Given the description of an element on the screen output the (x, y) to click on. 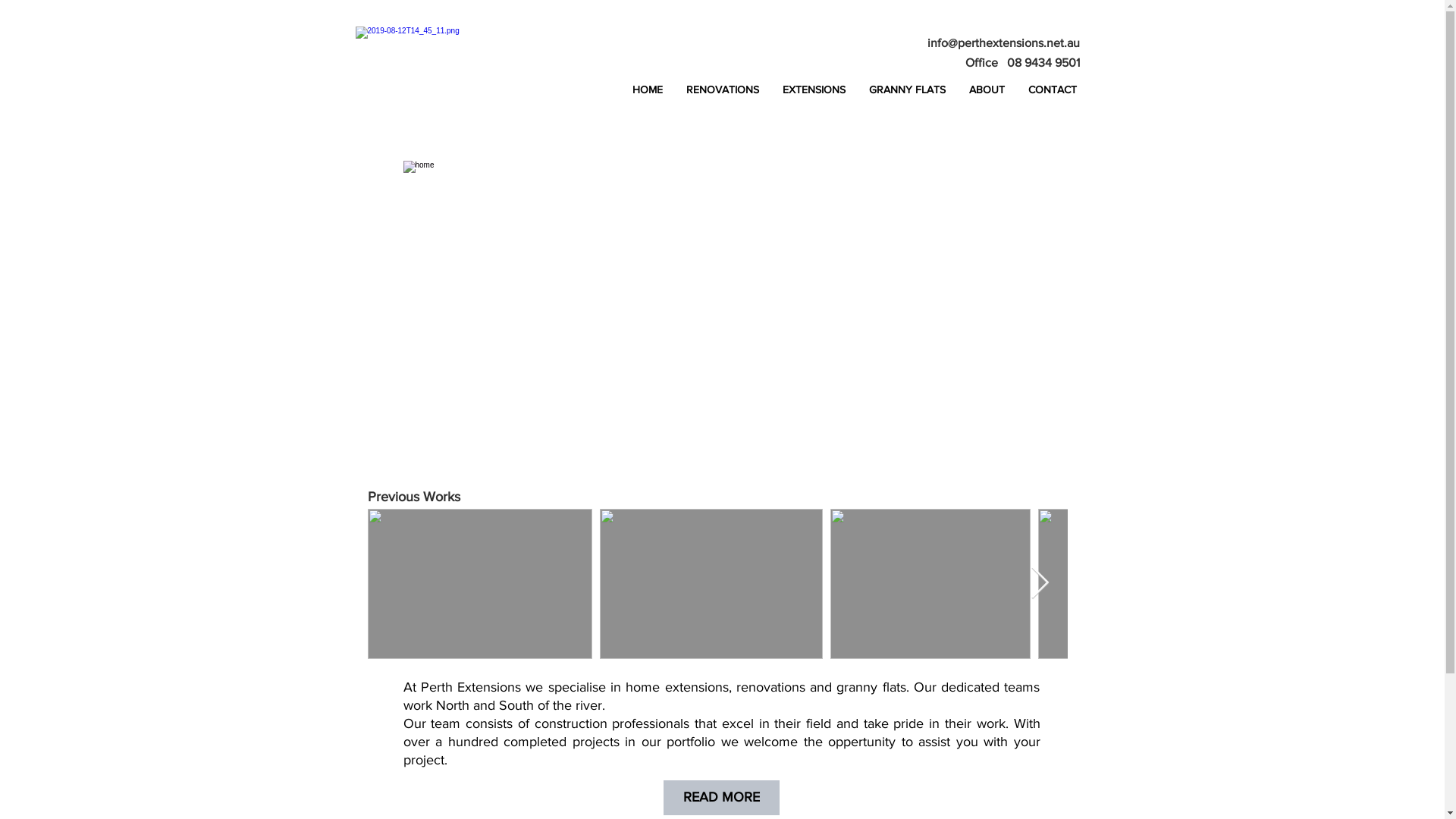
info@perthextensions.net.au Element type: text (1002, 42)
CONTACT Element type: text (1052, 89)
ABOUT Element type: text (986, 89)
EXTENSIONS Element type: text (813, 89)
GRANNY FLATS Element type: text (906, 89)
READ MORE Element type: text (720, 797)
RENOVATIONS Element type: text (722, 89)
HOME Element type: text (647, 89)
